Given the description of an element on the screen output the (x, y) to click on. 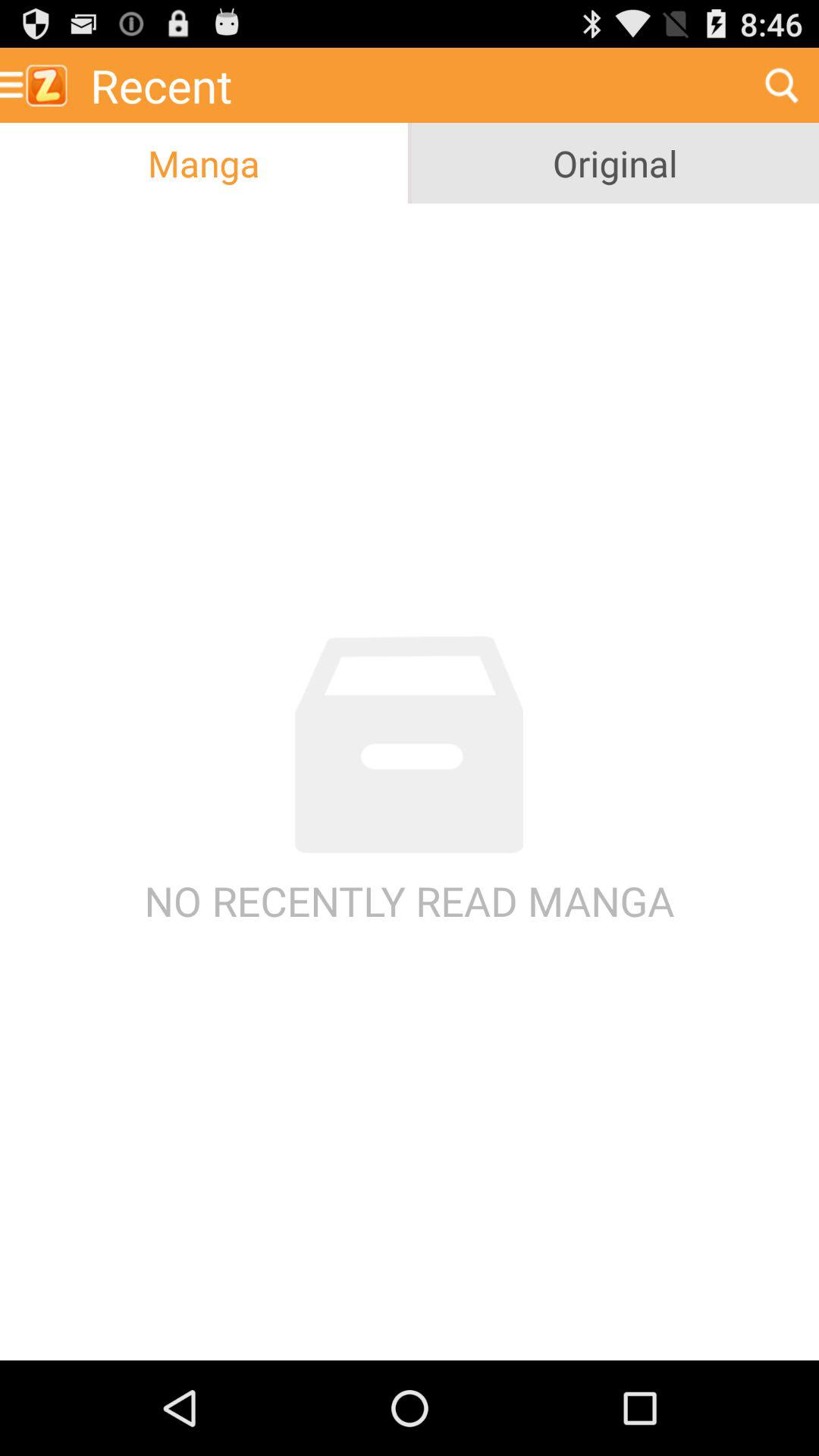
open the radio button below the manga item (409, 781)
